Given the description of an element on the screen output the (x, y) to click on. 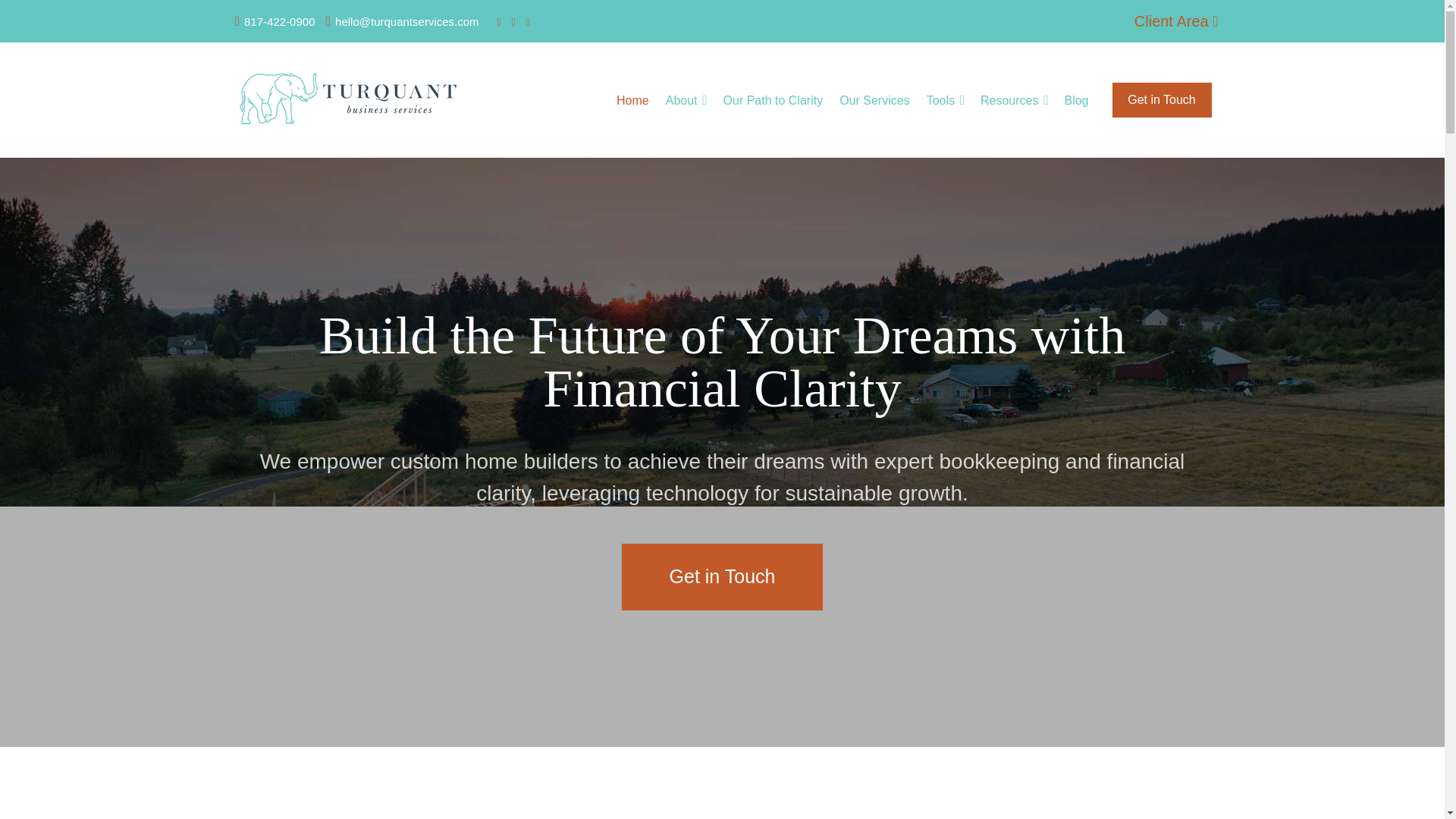
Our Path to Clarity (773, 99)
817-422-0900 (274, 21)
Client Area (1176, 20)
Blog (1075, 99)
About (681, 99)
About (681, 99)
Get in Touch (1161, 99)
Our Services (873, 99)
Home (632, 99)
Resources (1009, 99)
Tools (940, 99)
Our Path to Clarity (773, 99)
Home (632, 99)
Our Services (873, 99)
Tools (940, 99)
